Given the description of an element on the screen output the (x, y) to click on. 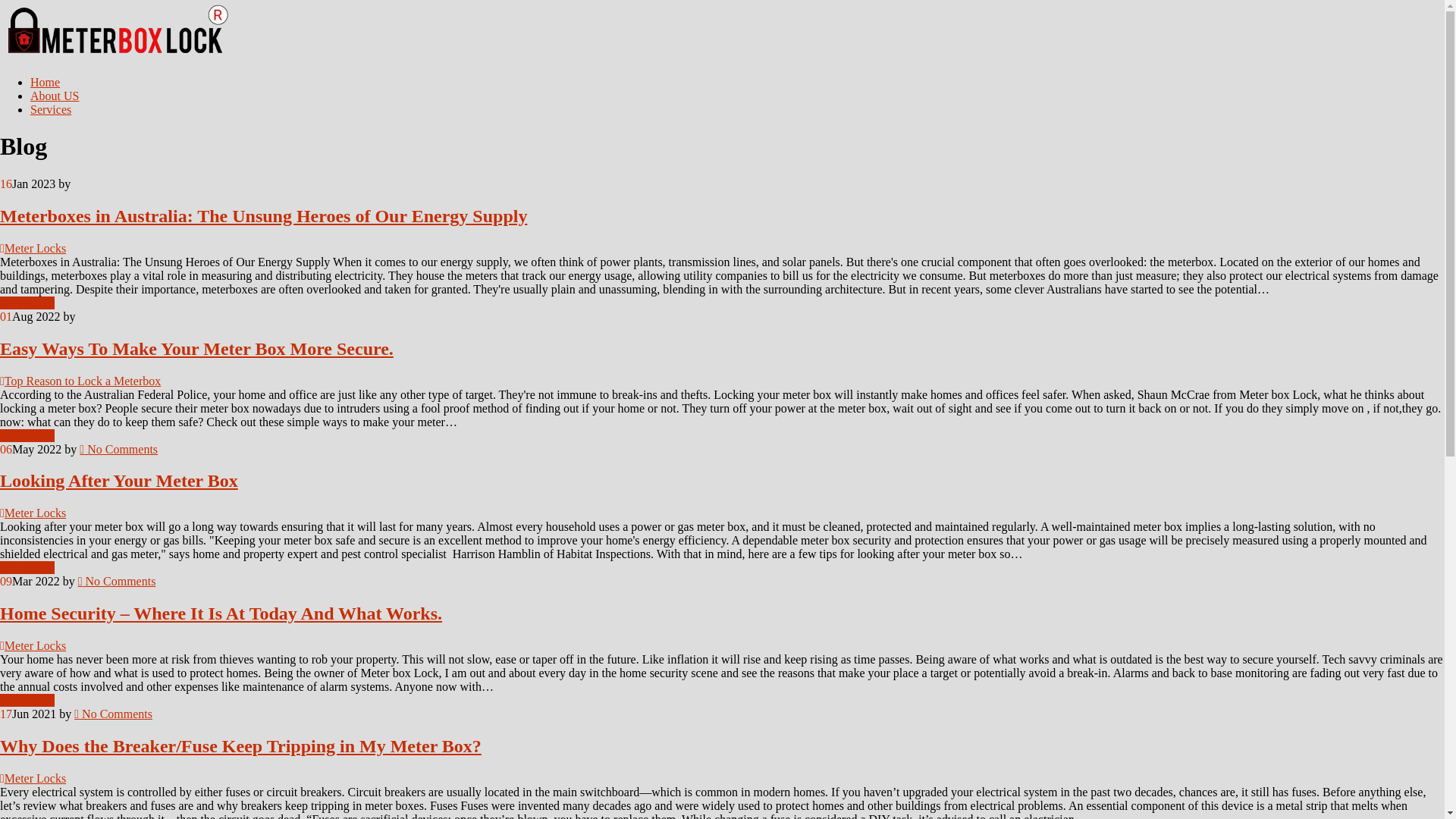
Meter Locks Element type: text (34, 512)
Read More Element type: text (27, 699)
Why Does the Breaker/Fuse Keep Tripping in My Meter Box? Element type: text (240, 746)
No Comments Element type: text (113, 713)
Read More Element type: text (27, 435)
Easy Ways To Make Your Meter Box More Secure. Element type: text (196, 348)
No Comments Element type: text (117, 580)
Meter Locks Element type: text (34, 247)
Services Element type: text (50, 109)
Meter Locks Element type: text (34, 645)
No Comments Element type: text (118, 448)
Top Reason to Lock a Meterbox Element type: text (82, 380)
Looking After Your Meter Box Element type: text (119, 480)
About US Element type: text (54, 95)
Read More Element type: text (27, 302)
Meter Locks Element type: text (34, 777)
Read More Element type: text (27, 567)
Home Element type: text (44, 81)
